Given the description of an element on the screen output the (x, y) to click on. 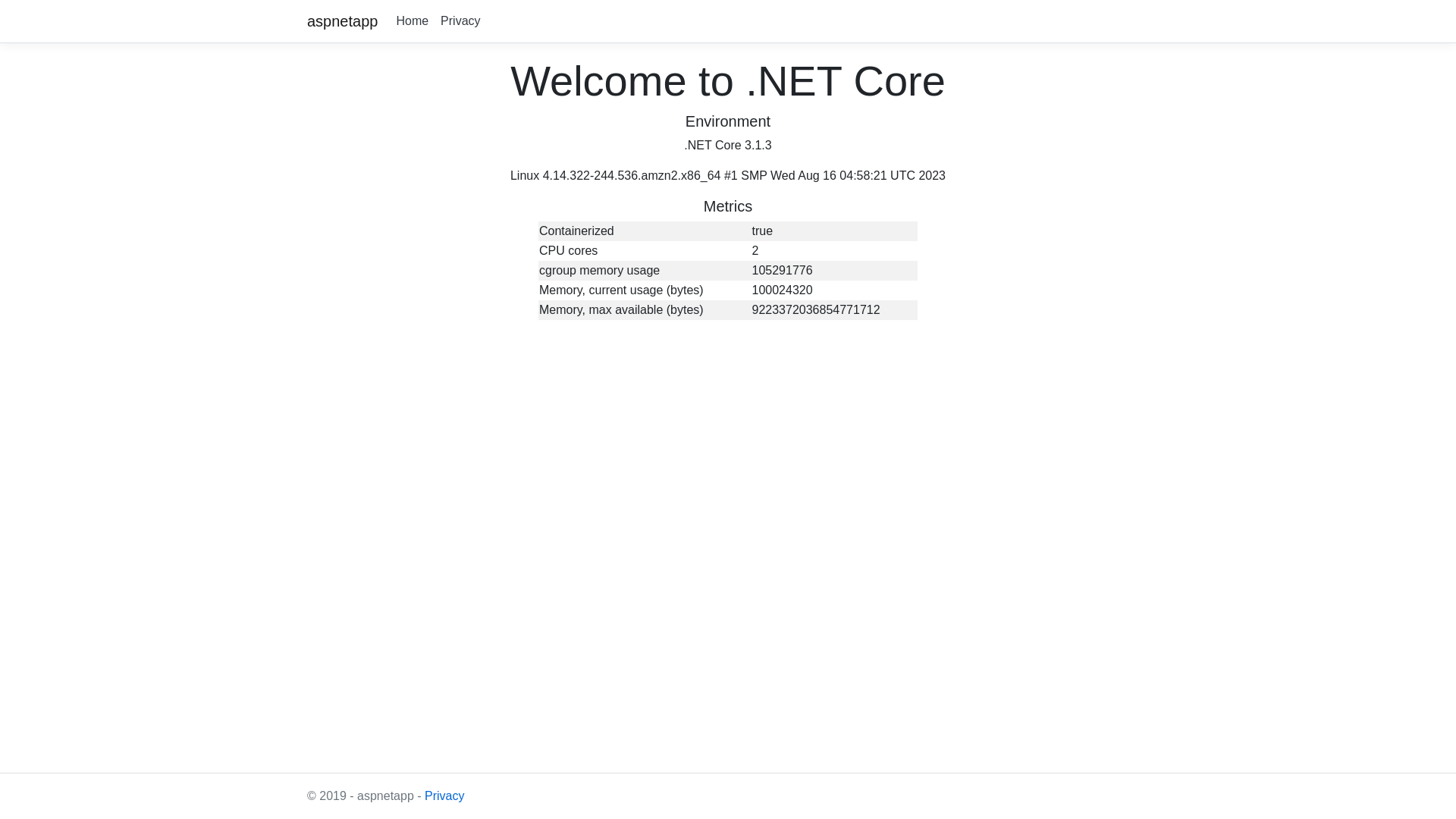
aspnetapp Element type: text (342, 21)
Home Element type: text (411, 21)
Privacy Element type: text (460, 21)
Privacy Element type: text (444, 795)
